Given the description of an element on the screen output the (x, y) to click on. 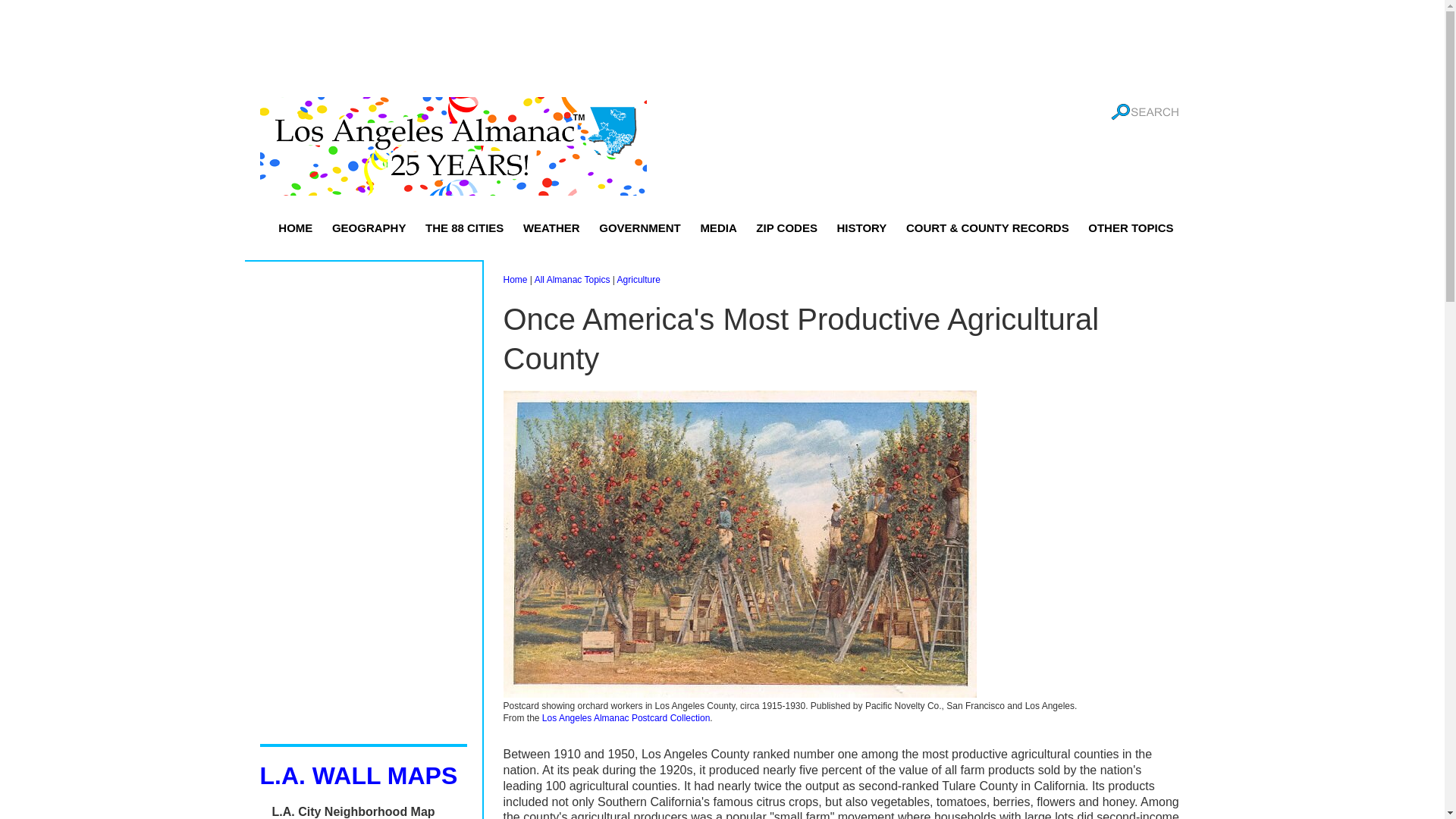
Search Icon (1144, 111)
THE 88 CITIES (463, 227)
HOME (294, 227)
WEATHER (551, 227)
Los Angeles Almanac Logo (452, 146)
Advertisement (721, 49)
GOVERNMENT (639, 227)
GEOGRAPHY (367, 227)
